Given the description of an element on the screen output the (x, y) to click on. 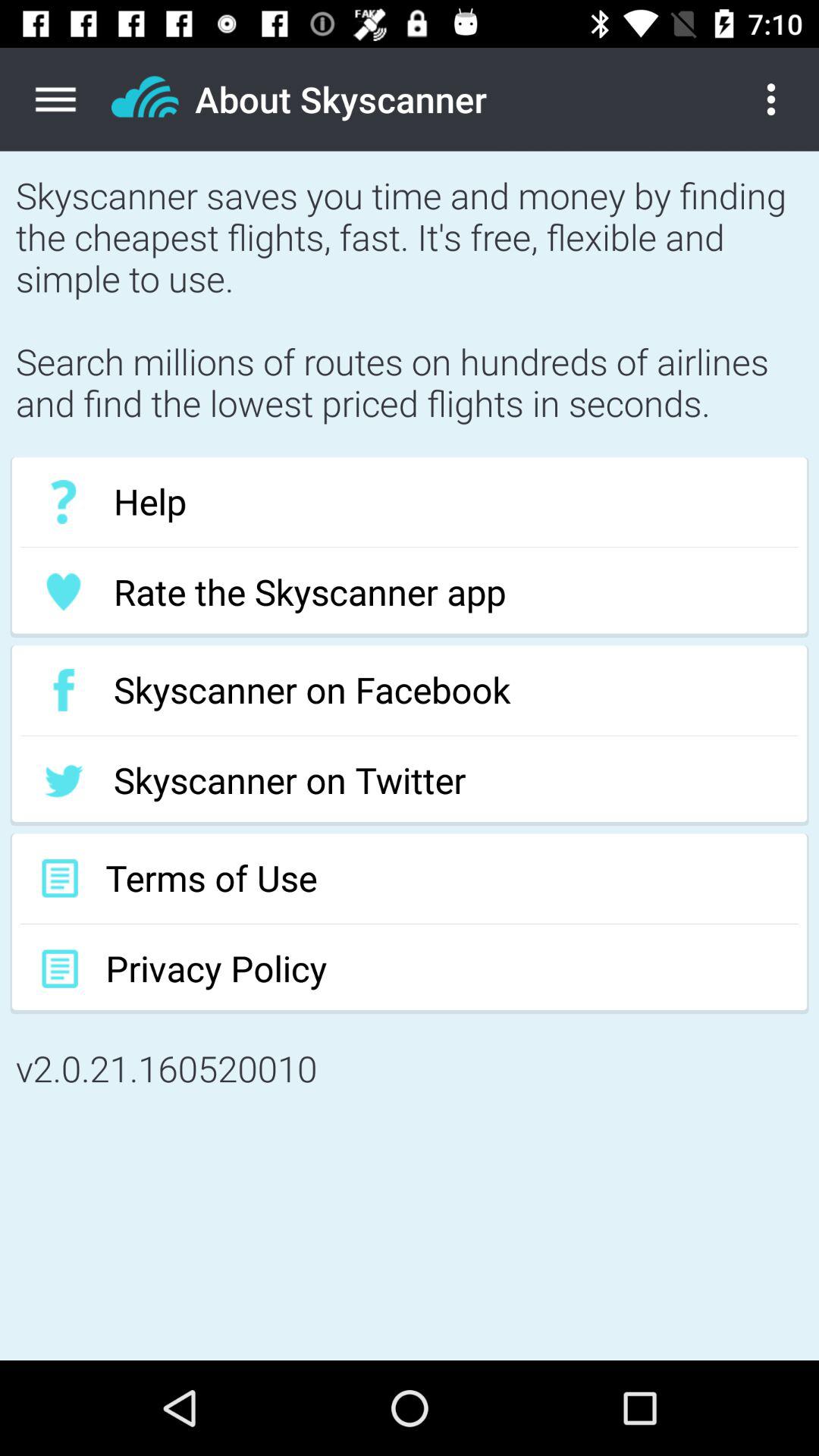
turn off the privacy policy item (409, 969)
